Given the description of an element on the screen output the (x, y) to click on. 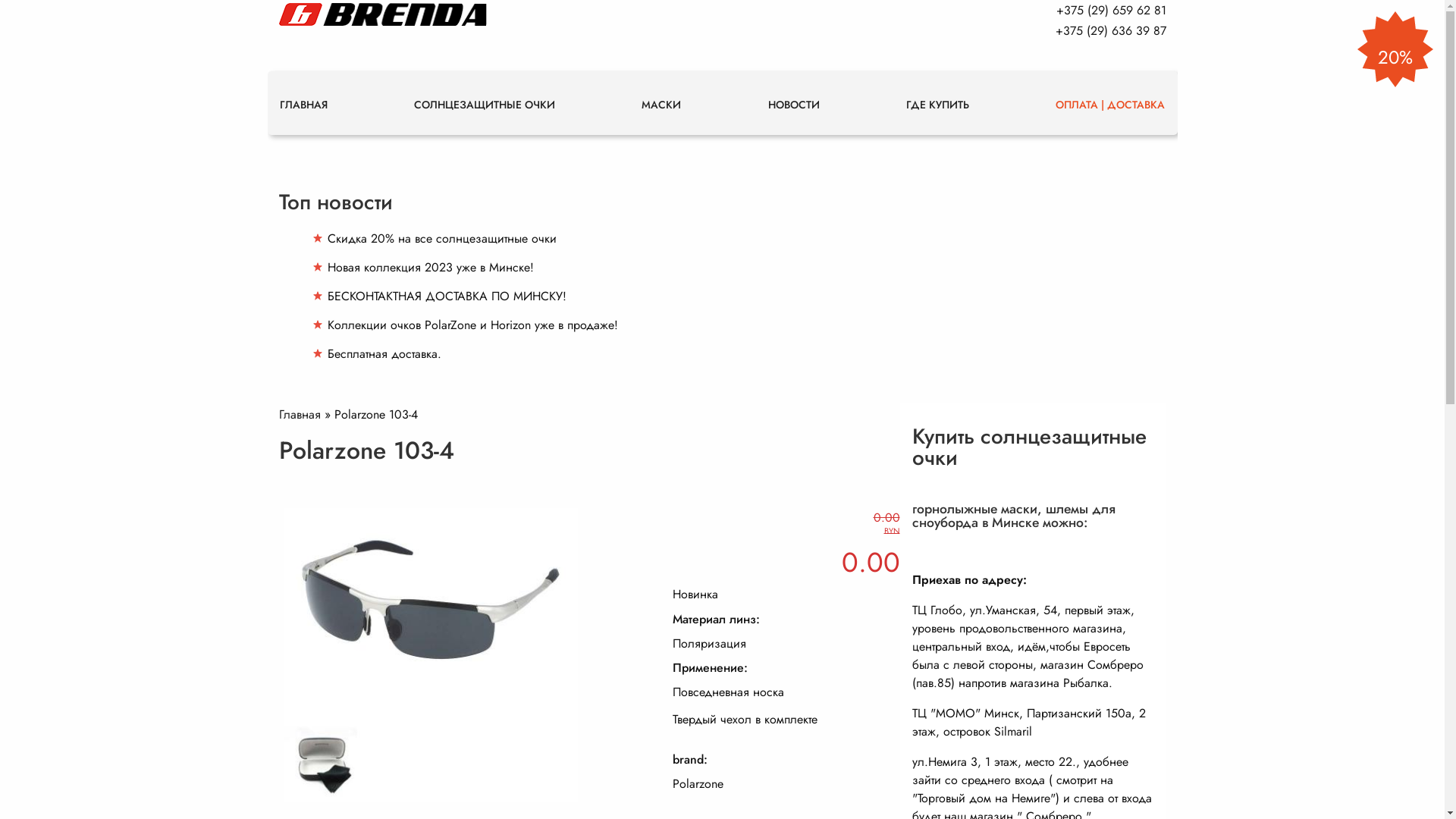
Polarzone 103-4 Element type: hover (436, 808)
+375 (29) 636 39 87 Element type: text (1110, 30)
+375 (29) 659 62 81 Element type: text (1110, 9)
